Given the description of an element on the screen output the (x, y) to click on. 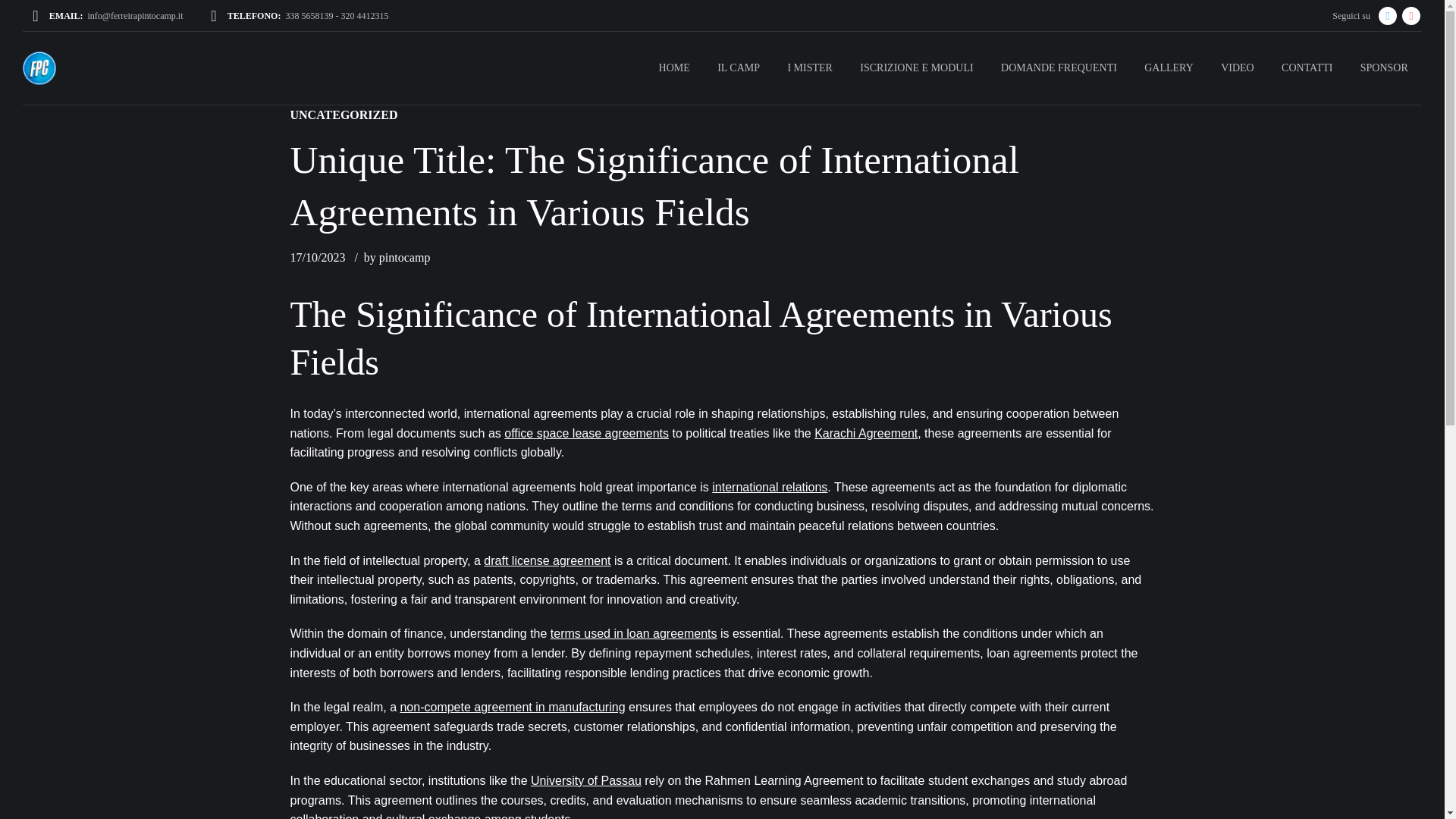
HOME (674, 68)
draft license agreement (546, 560)
I MISTER (809, 68)
office space lease agreements (585, 432)
Karachi Agreement (865, 432)
UNCATEGORIZED (343, 115)
DOMANDE FREQUENTI (1059, 68)
TELEFONO:338 5658139 - 320 4412315 (299, 15)
ISCRIZIONE E MODULI (916, 68)
GALLERY (1169, 68)
